Given the description of an element on the screen output the (x, y) to click on. 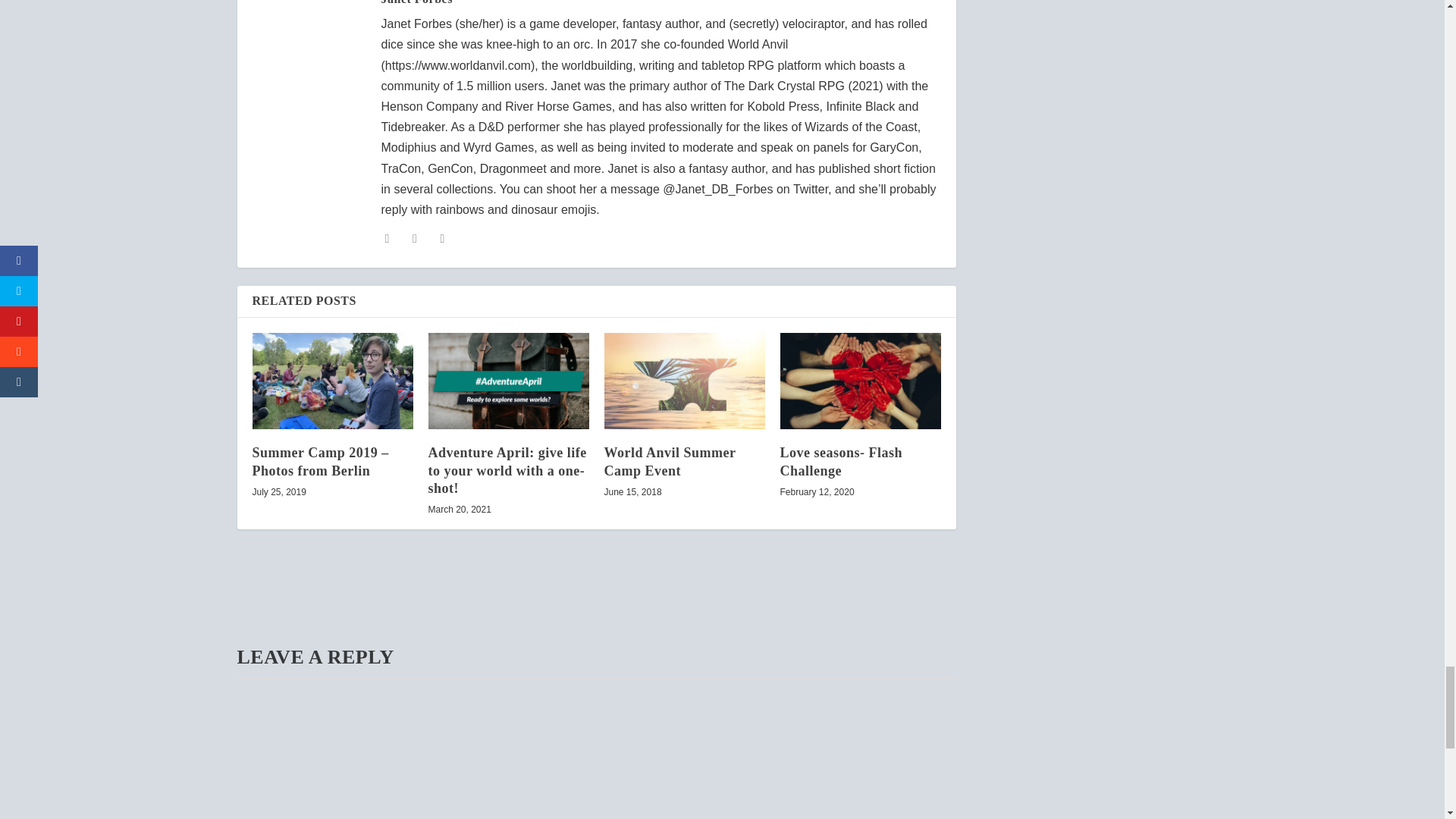
Comment Form (595, 748)
View all posts by Janet Forbes (415, 2)
Adventure April: give life to your world with a one-shot! (508, 380)
World Anvil Summer Camp Event (684, 380)
Love seasons- Flash Challenge (859, 380)
